Given the description of an element on the screen output the (x, y) to click on. 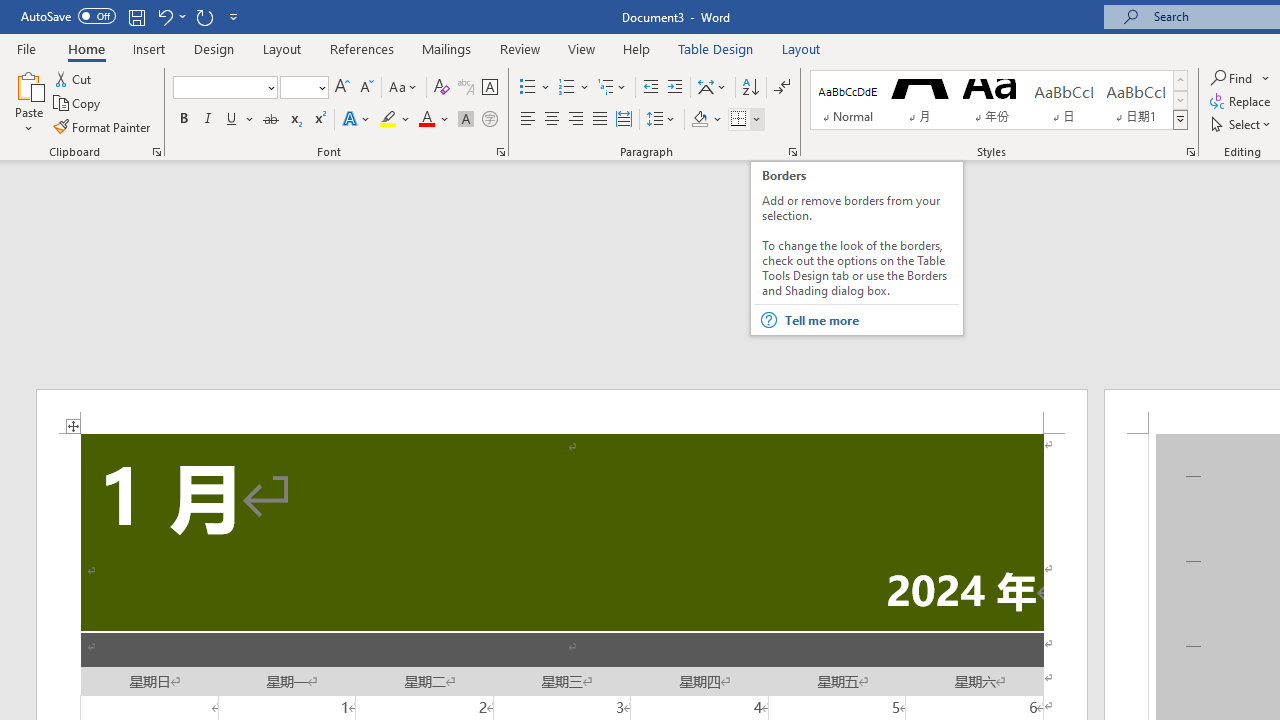
Styles... (1190, 151)
Text Highlight Color (395, 119)
Sort... (750, 87)
Undo Apply Quick Style (170, 15)
Table Design (715, 48)
Character Border (489, 87)
Asian Layout (712, 87)
Font Color RGB(255, 0, 0) (426, 119)
Repeat Doc Close (204, 15)
Format Painter (103, 126)
